Given the description of an element on the screen output the (x, y) to click on. 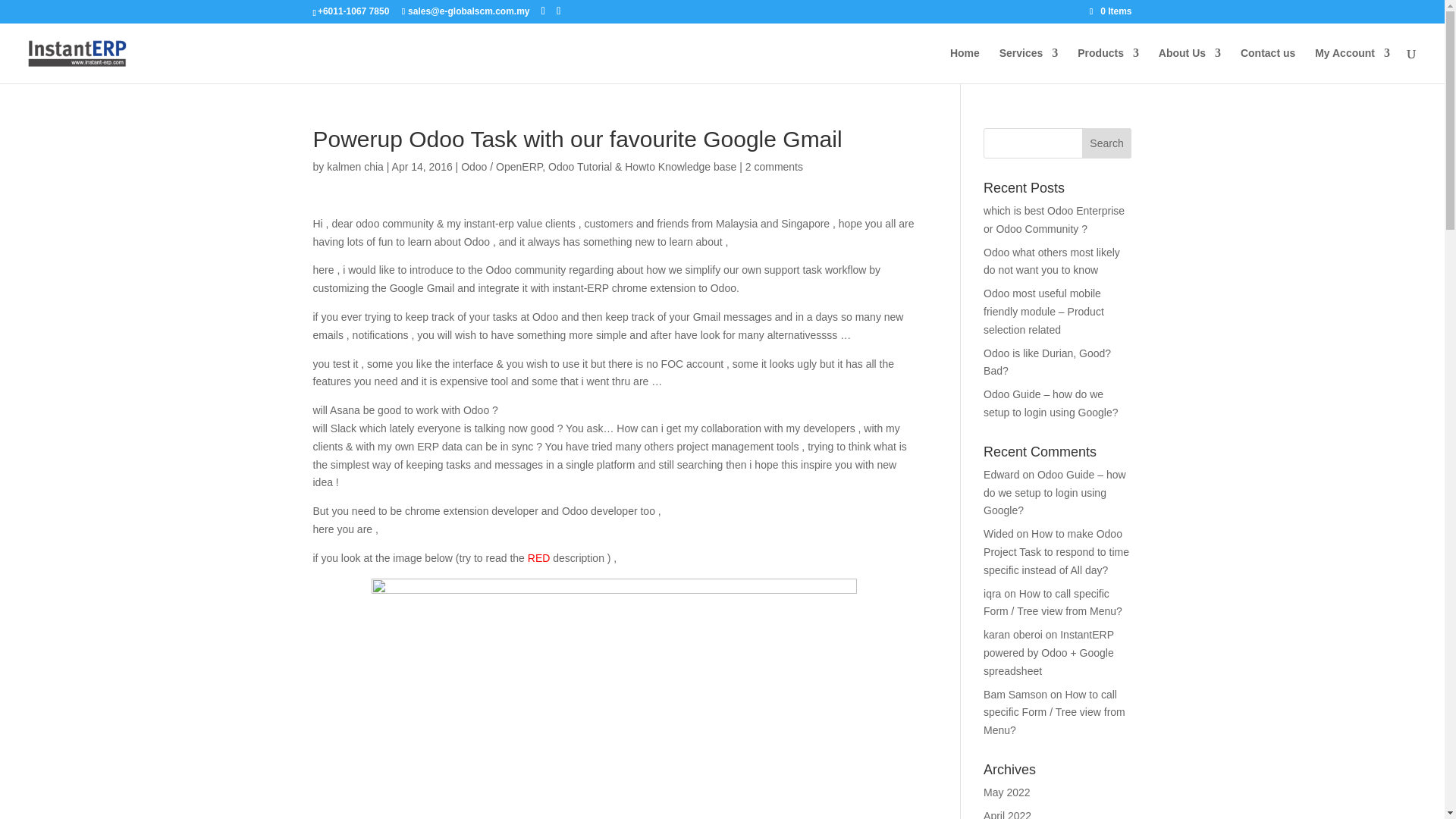
kalmen chia (355, 166)
0 Items (1110, 10)
2 comments (774, 166)
Posts by kalmen chia (355, 166)
Search (1106, 142)
Home (964, 65)
About Us (1189, 65)
My Account (1352, 65)
Contact us (1267, 65)
Products (1107, 65)
Services (1028, 65)
